Given the description of an element on the screen output the (x, y) to click on. 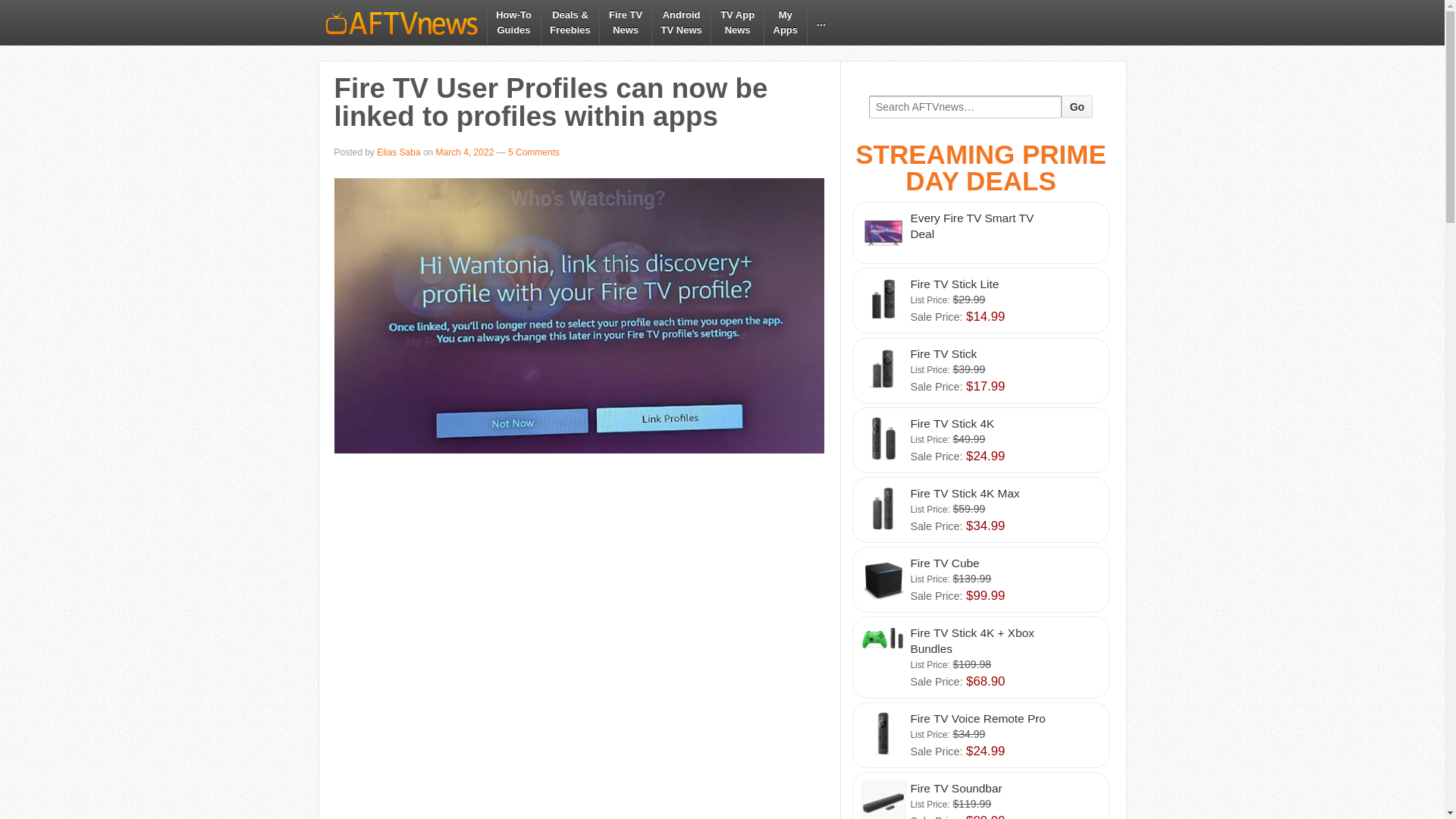
Fire TV Voice Remote Pro (680, 22)
Elias Saba (979, 734)
Go (398, 152)
Fire TV Smart TV (784, 22)
Fire TV Stick 4K Max (1077, 106)
5 Comments (979, 232)
March 4, 2022 (979, 509)
About Elias Saba (532, 152)
Fire TV Soundbar (465, 152)
Fire TV Stick (398, 152)
